Given the description of an element on the screen output the (x, y) to click on. 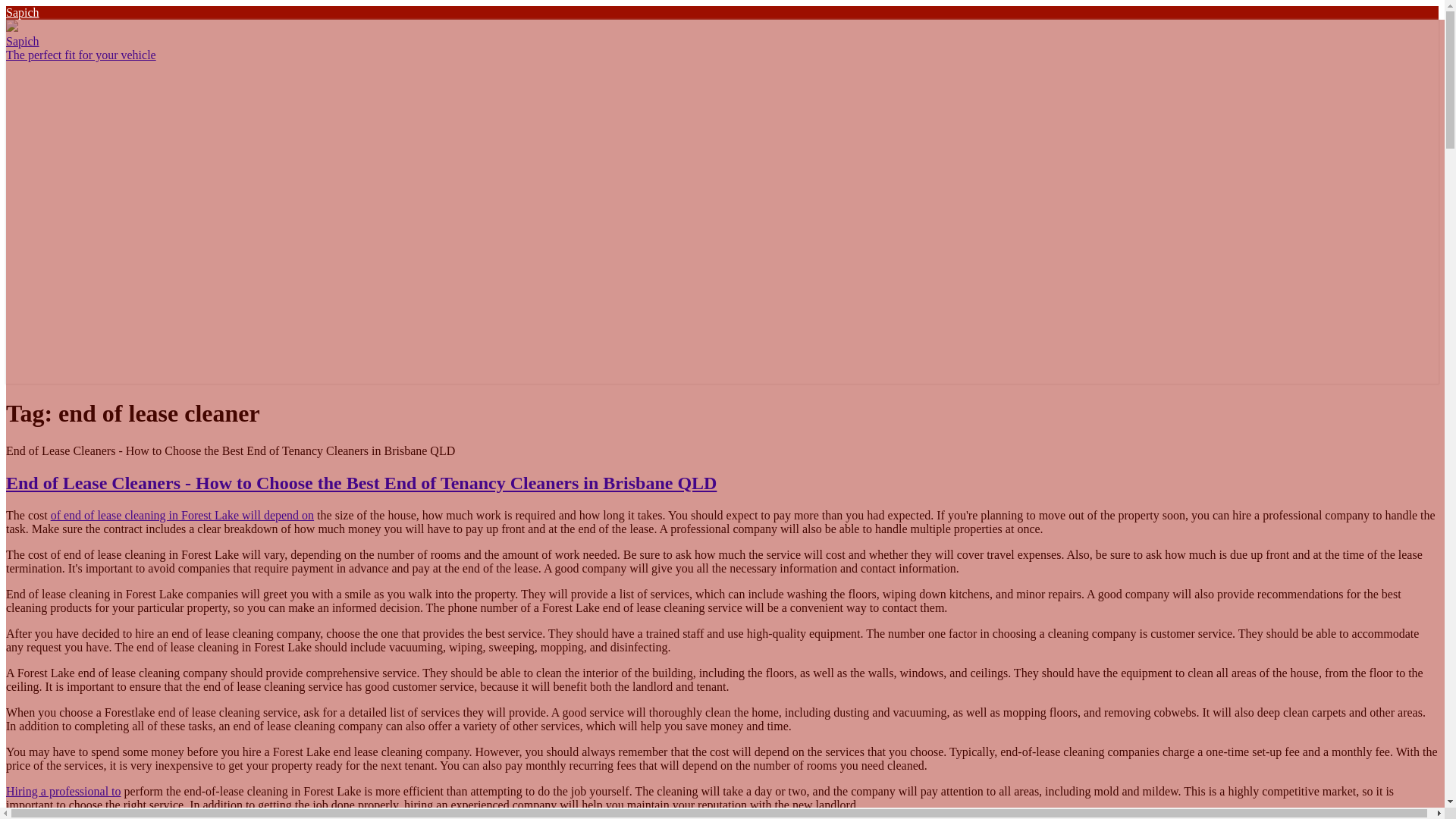
Hiring a professional to (62, 790)
Sapich (22, 11)
of end of lease cleaning in Forest Lake will depend on (182, 514)
